Given the description of an element on the screen output the (x, y) to click on. 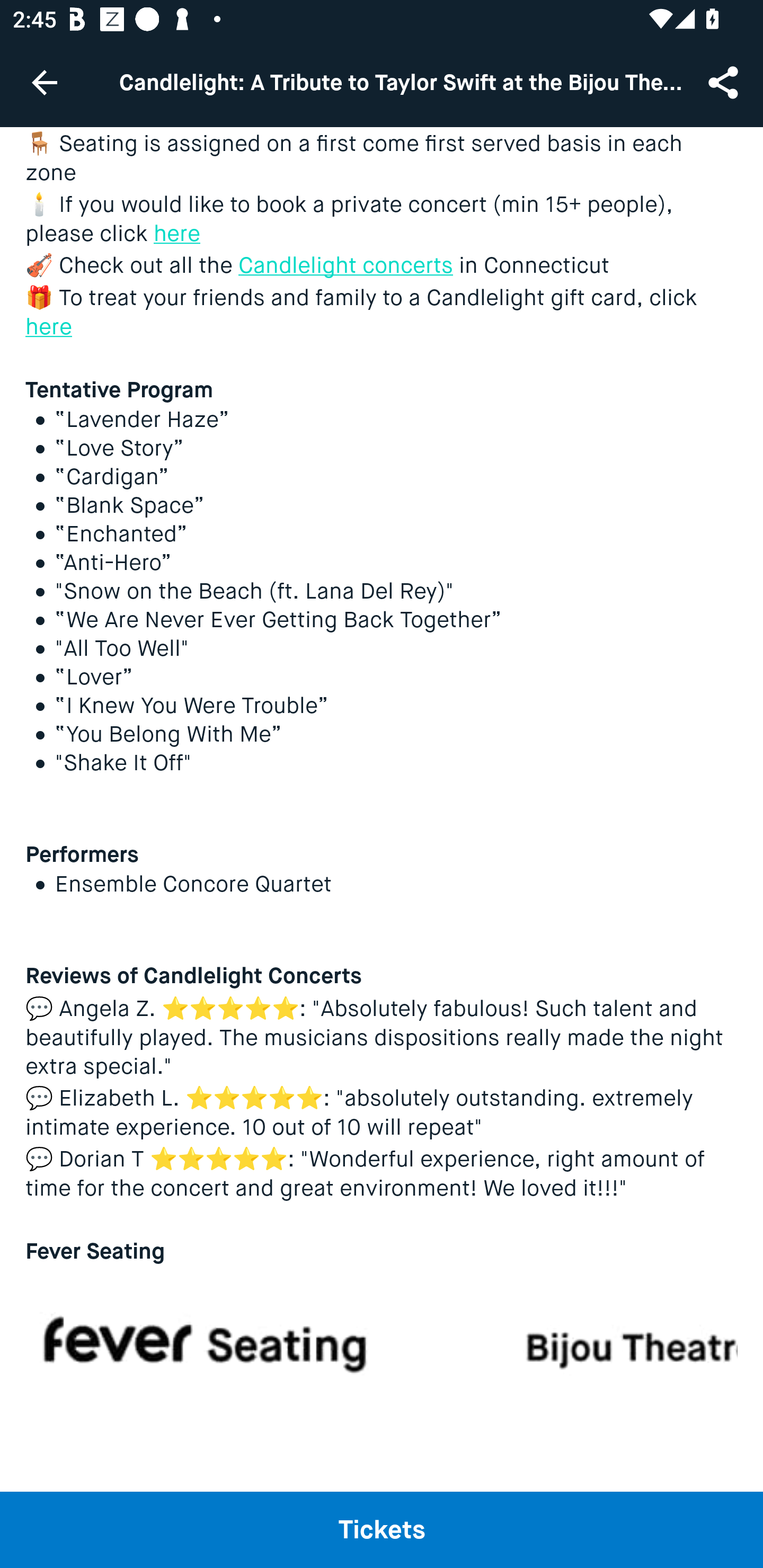
Navigate up (44, 82)
Share (724, 81)
Tickets (381, 1529)
